Given the description of an element on the screen output the (x, y) to click on. 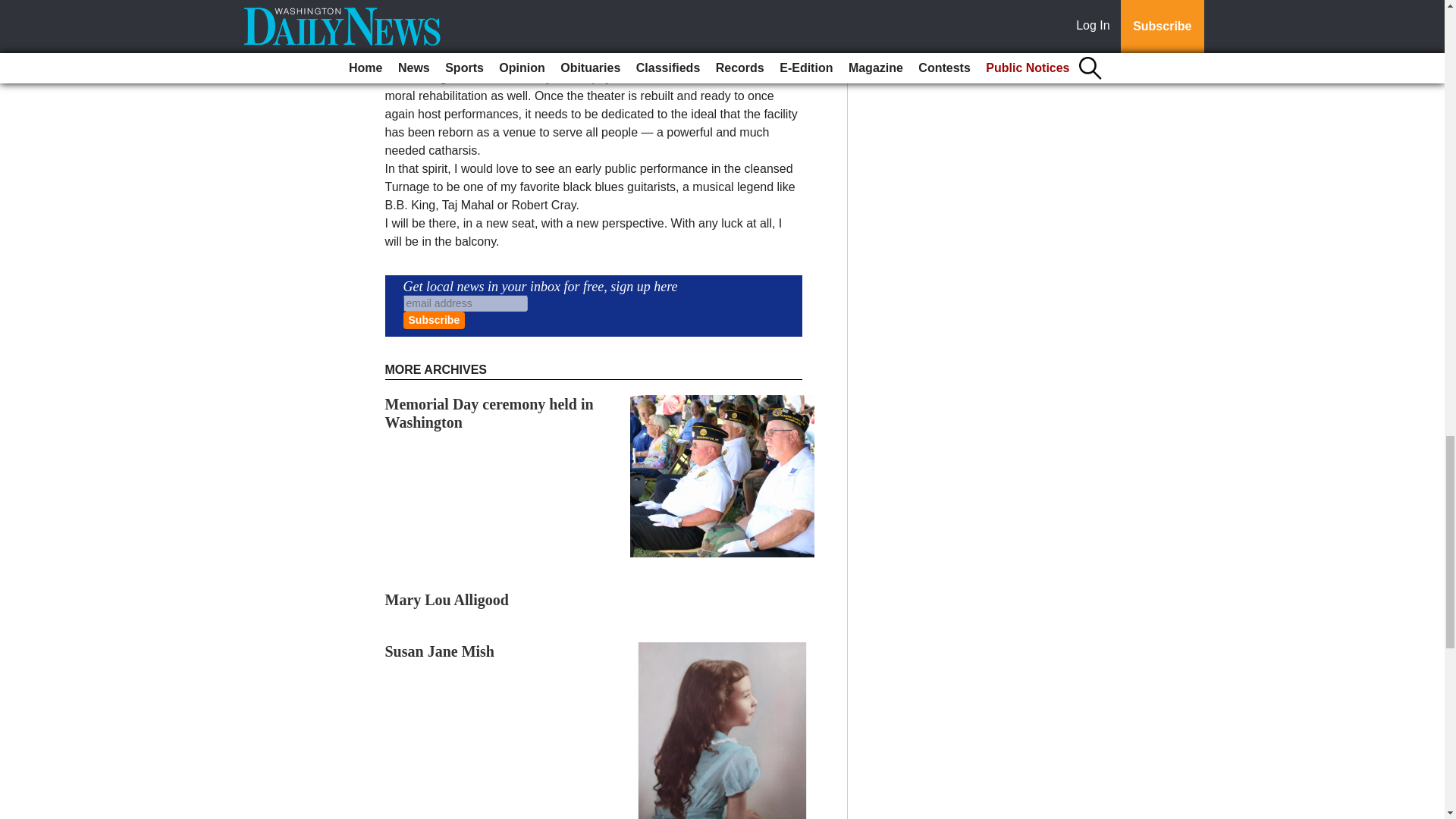
Susan Jane Mish (440, 651)
Subscribe (434, 320)
Memorial Day ceremony held in Washington (489, 412)
Memorial Day ceremony held in Washington (489, 412)
Mary Lou Alligood (446, 599)
Mary Lou Alligood (446, 599)
Susan Jane Mish (440, 651)
Subscribe (434, 320)
